Given the description of an element on the screen output the (x, y) to click on. 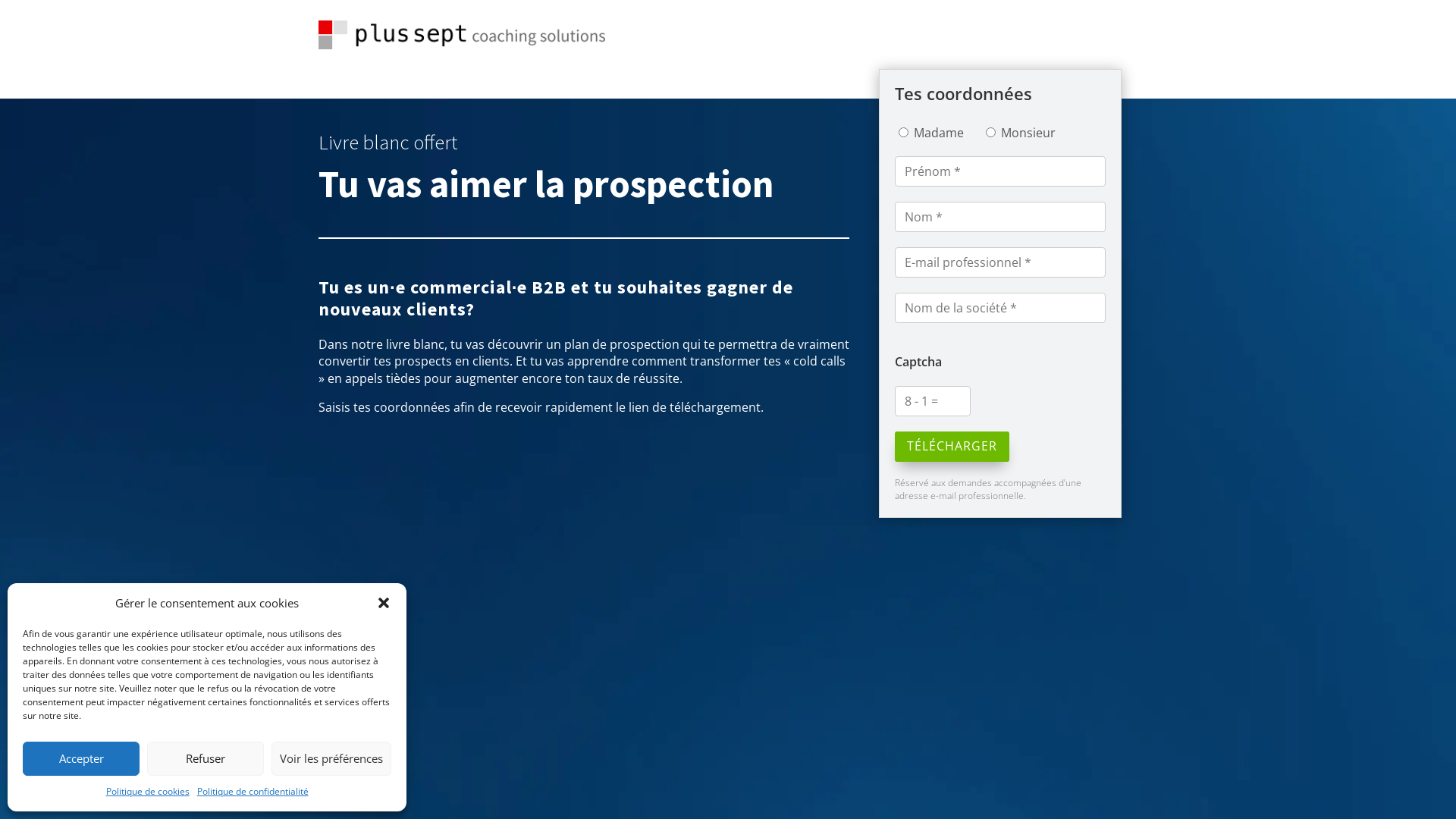
Refuser Element type: text (205, 758)
coachingsolutions-dark-1L Element type: hover (461, 34)
Politique de cookies Element type: text (147, 791)
Accepter Element type: text (80, 758)
